Given the description of an element on the screen output the (x, y) to click on. 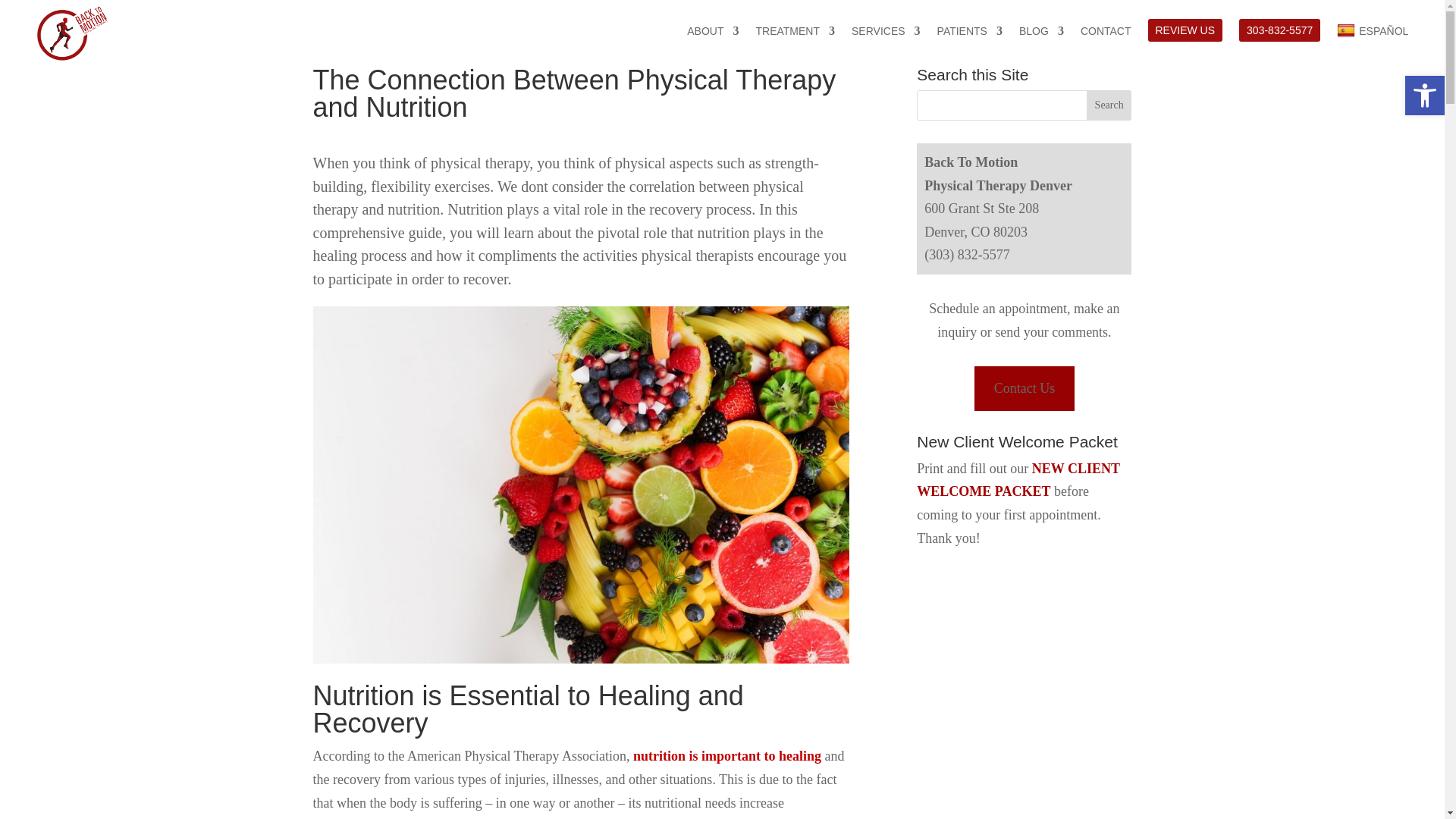
Accessibility Tools (1424, 95)
PATIENTS (970, 31)
SERVICES (885, 31)
Search (1109, 105)
Spanish (1371, 31)
TREATMENT (795, 31)
